Given the description of an element on the screen output the (x, y) to click on. 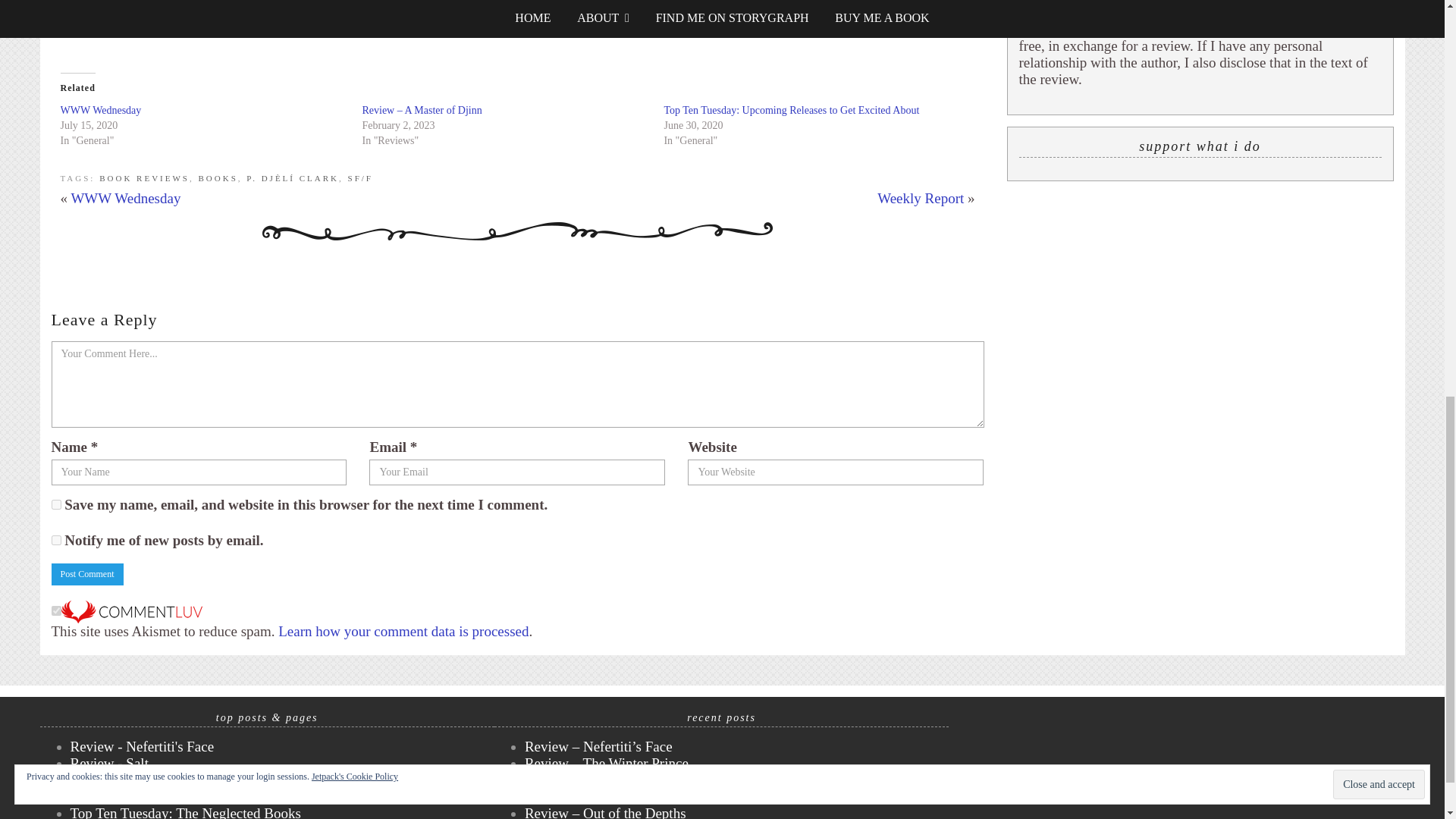
Review - Nefertiti's Face (141, 746)
Unstacking the Shelves (137, 796)
Top Ten Tuesday: Upcoming Releases to Get Excited About (790, 110)
WWW Wednesday (124, 198)
subscribe (55, 540)
Review - Salt (108, 763)
Like or Reblog (518, 23)
Review - Cleopatra: Last Queen of Egypt (188, 779)
WWW Wednesday (101, 110)
yes (55, 504)
Weekly Report (920, 198)
on (55, 610)
BOOK REVIEWS (144, 177)
Post Comment (86, 574)
Top Ten Tuesday: Upcoming Releases to Get Excited About (790, 110)
